Given the description of an element on the screen output the (x, y) to click on. 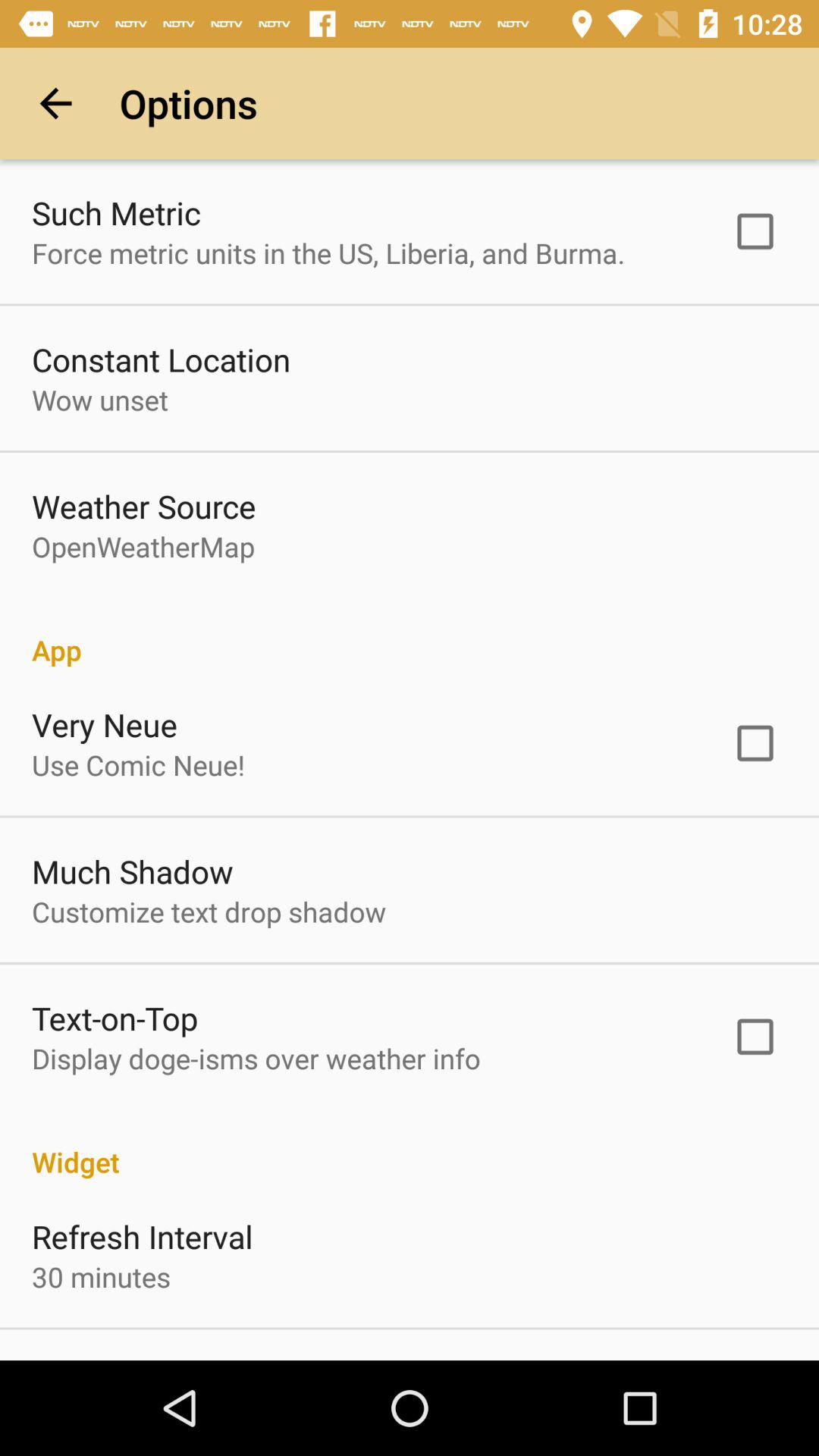
turn on constant location item (160, 359)
